Given the description of an element on the screen output the (x, y) to click on. 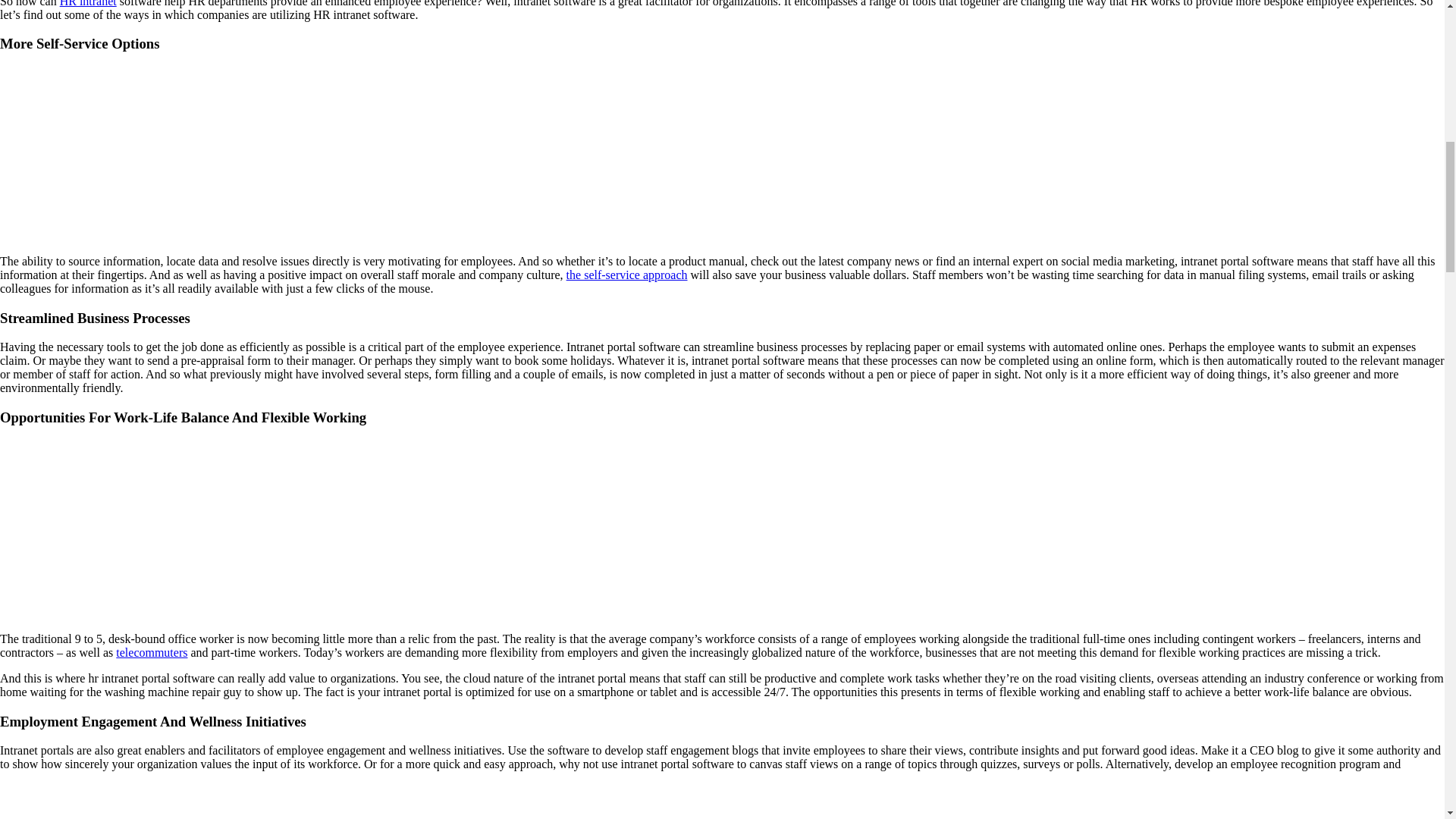
the self-service approach (626, 274)
HR intranet (87, 3)
telecommuters (151, 652)
